Given the description of an element on the screen output the (x, y) to click on. 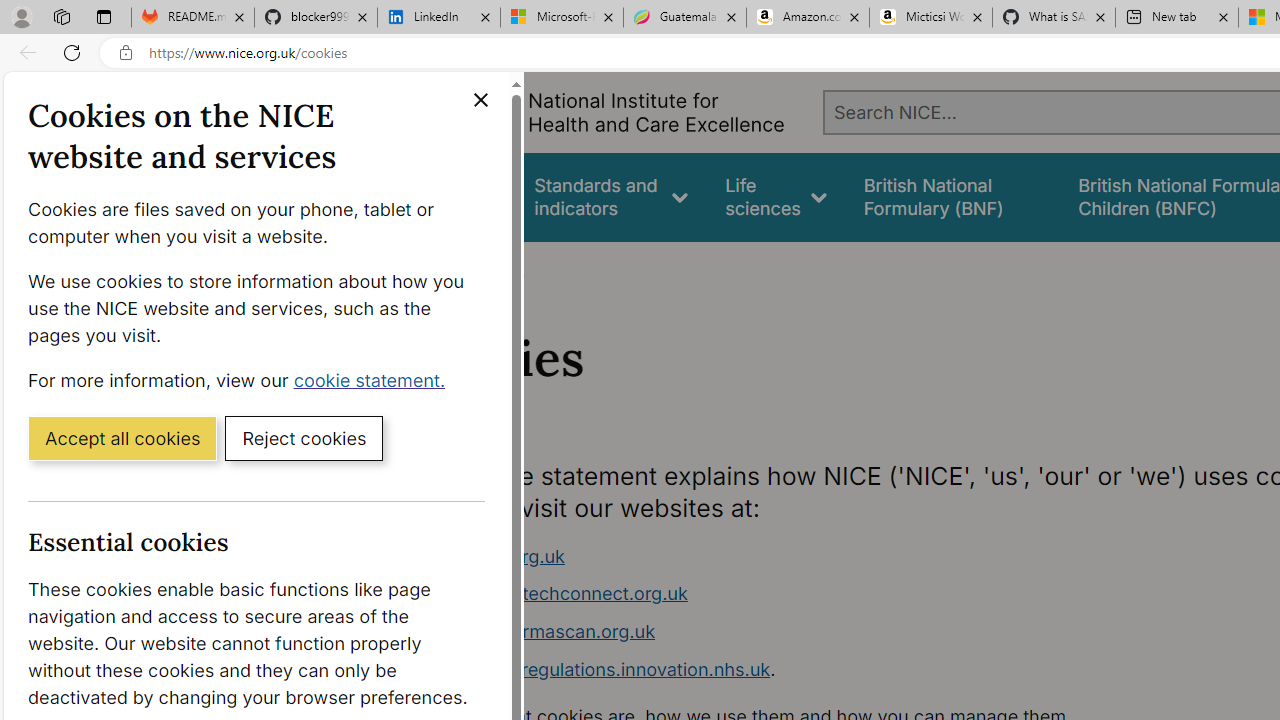
LinkedIn (438, 17)
Life sciences (776, 196)
Guidance (458, 196)
www.nice.org.uk (492, 556)
